Given the description of an element on the screen output the (x, y) to click on. 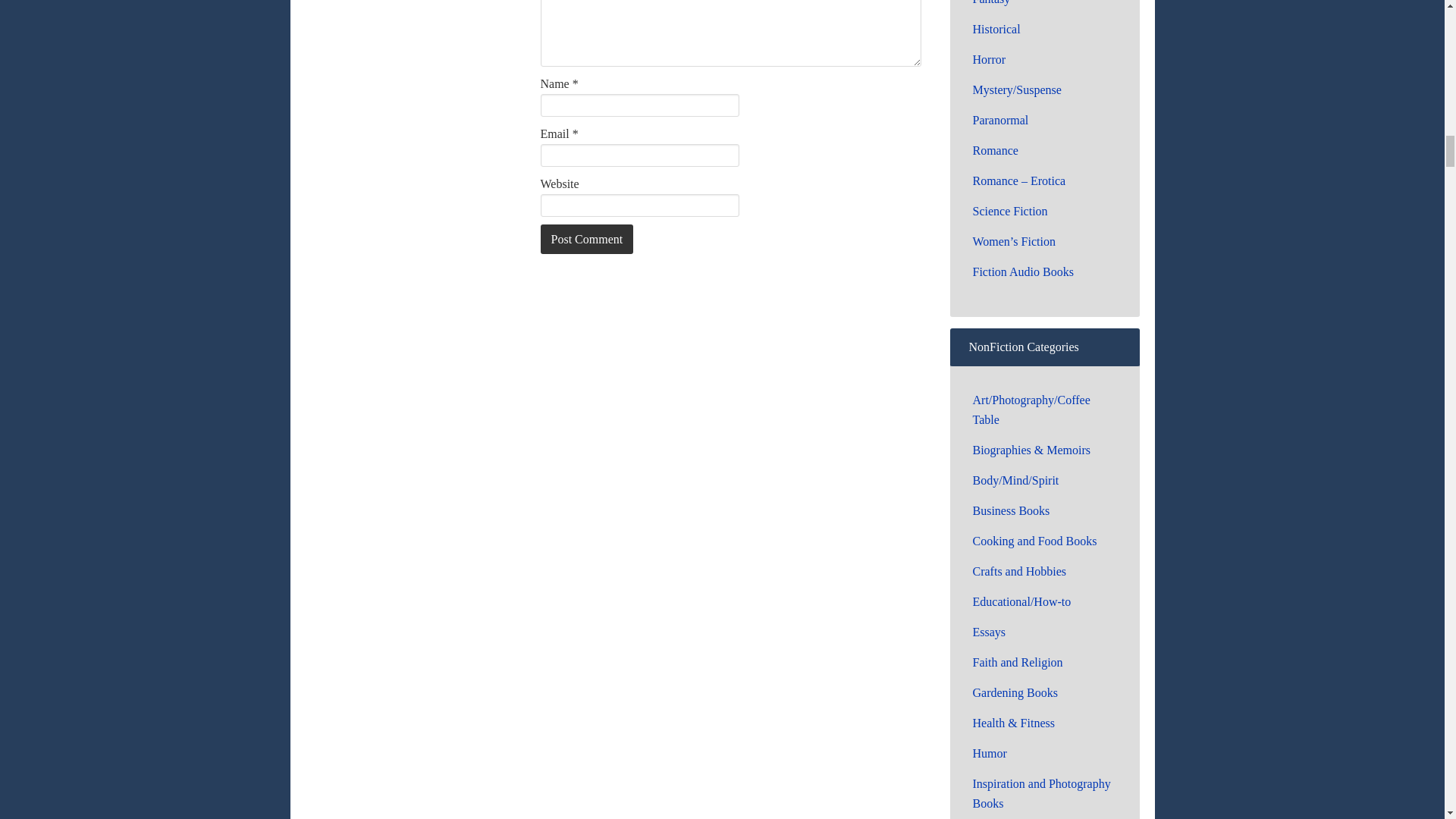
Post Comment (586, 238)
